Given the description of an element on the screen output the (x, y) to click on. 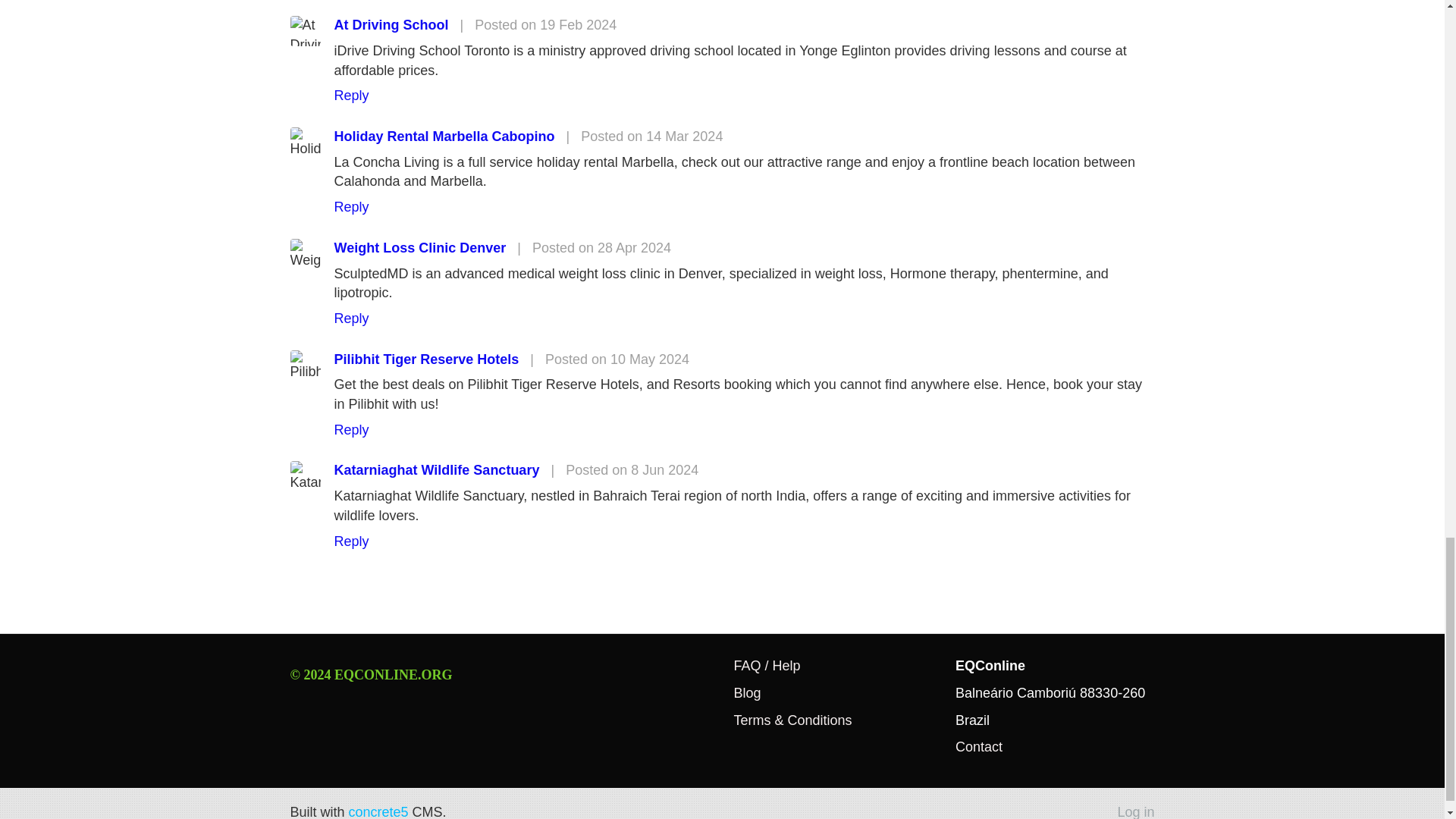
Reply (350, 0)
At Driving School (390, 24)
